Given the description of an element on the screen output the (x, y) to click on. 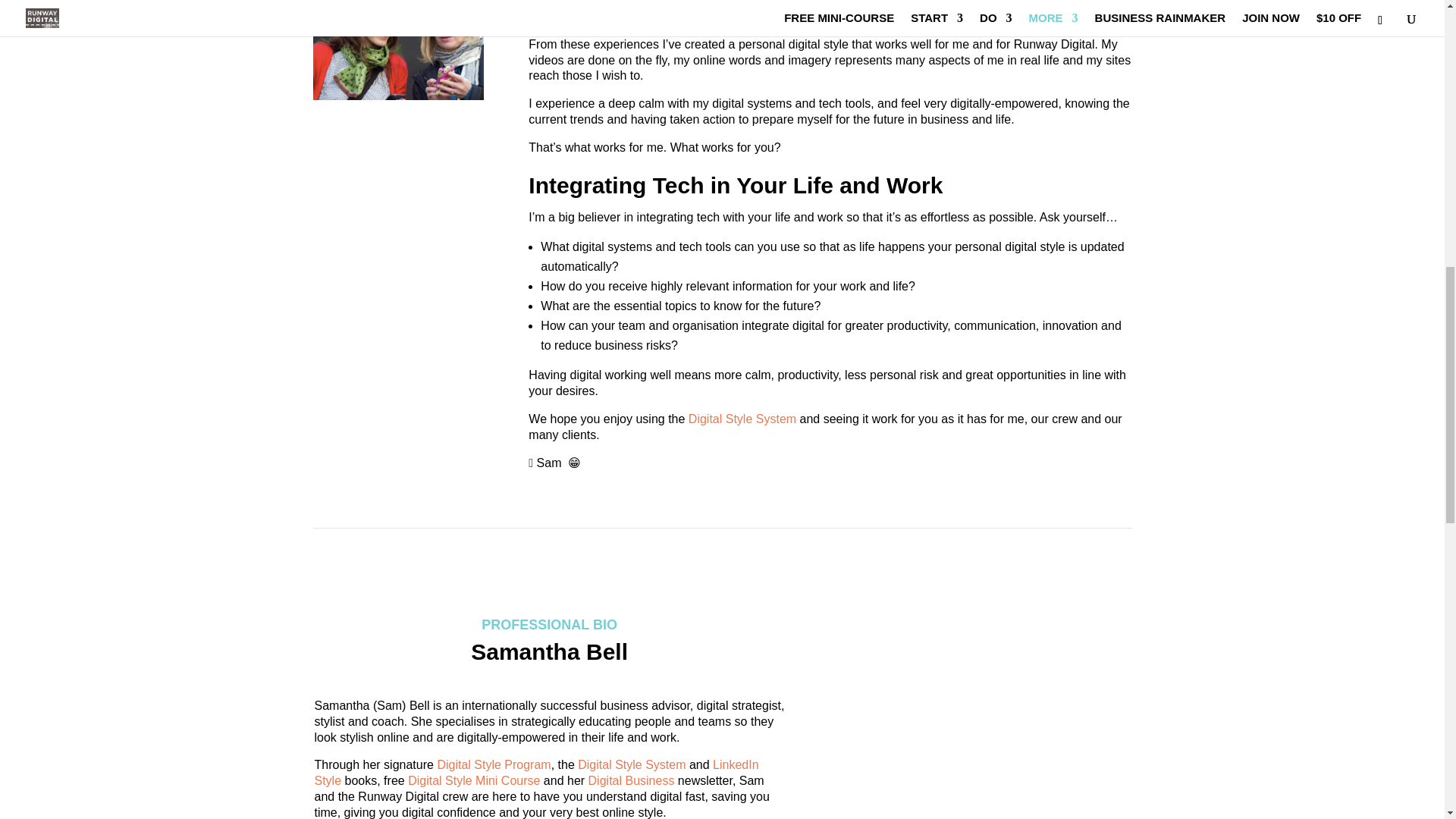
Digital Business (631, 780)
Digital Style System (742, 418)
Digital Style Program (493, 764)
LinkedIn Style (536, 772)
Digital Style Mini Course (473, 780)
Digital Style System (631, 764)
